Given the description of an element on the screen output the (x, y) to click on. 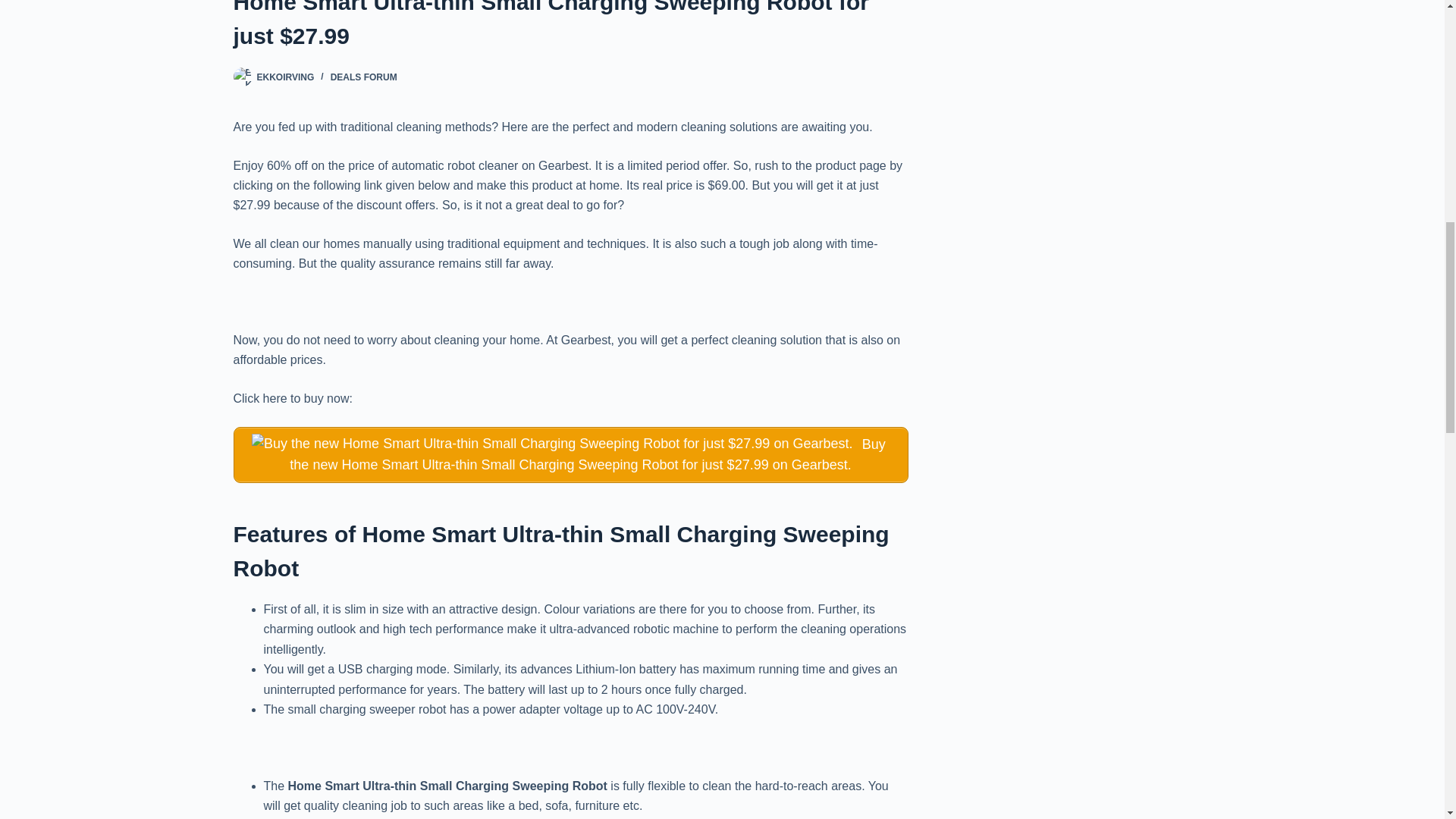
DEALS FORUM (363, 77)
EKKOIRVING (285, 77)
Posts by ekkoirving (285, 77)
